Given the description of an element on the screen output the (x, y) to click on. 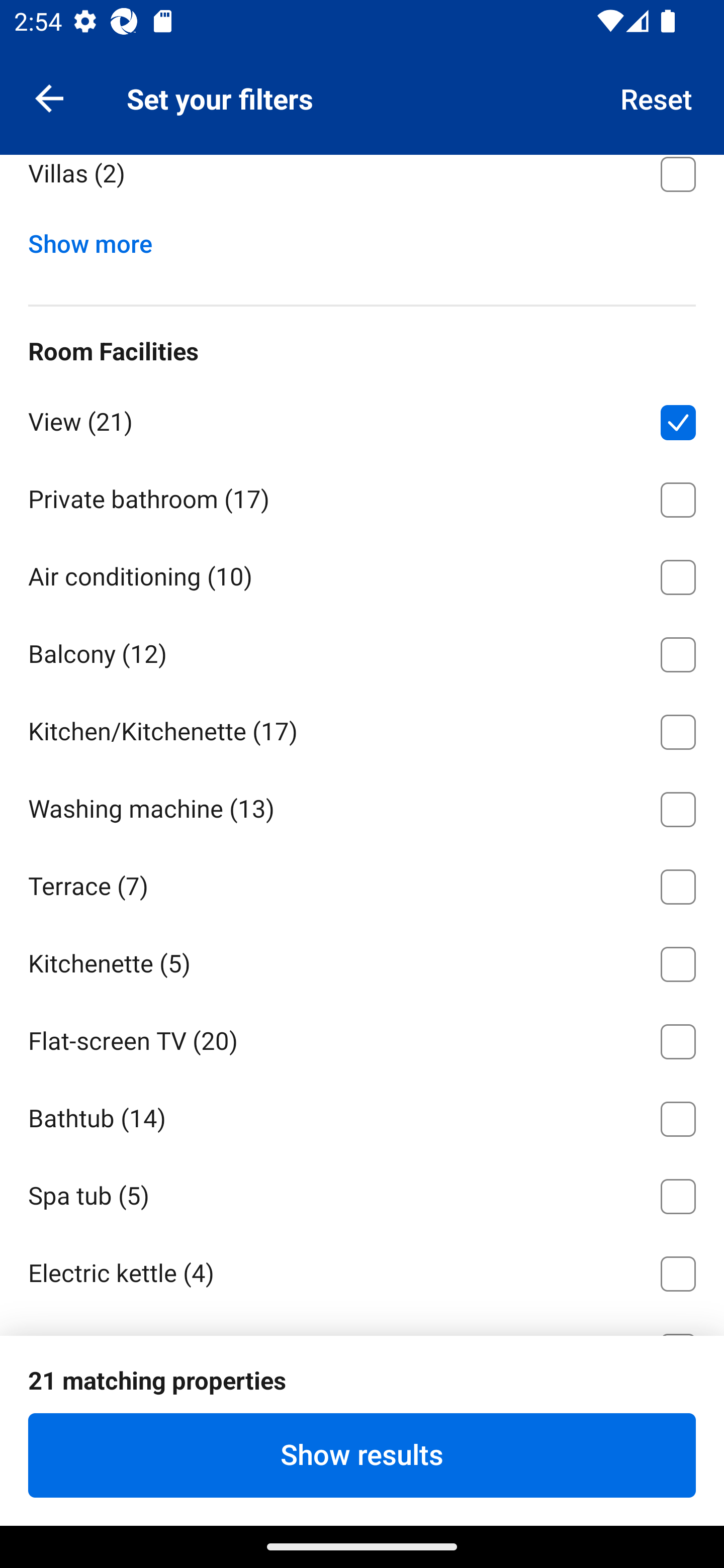
Navigate up (49, 97)
Vacation Homes ⁦(10) (361, 92)
Reset (656, 97)
Villas ⁦(2) (361, 185)
Show more (97, 238)
View ⁦(21) (361, 419)
Private bathroom ⁦(17) (361, 495)
Air conditioning ⁦(10) (361, 573)
Balcony ⁦(12) (361, 651)
Kitchen/Kitchenette ⁦(17) (361, 727)
Washing machine ⁦(13) (361, 805)
Terrace ⁦(7) (361, 883)
Kitchenette ⁦(5) (361, 960)
Flat-screen TV ⁦(20) (361, 1038)
Bathtub ⁦(14) (361, 1115)
Spa tub ⁦(5) (361, 1193)
Electric kettle ⁦(4) (361, 1270)
Show results (361, 1454)
